Given the description of an element on the screen output the (x, y) to click on. 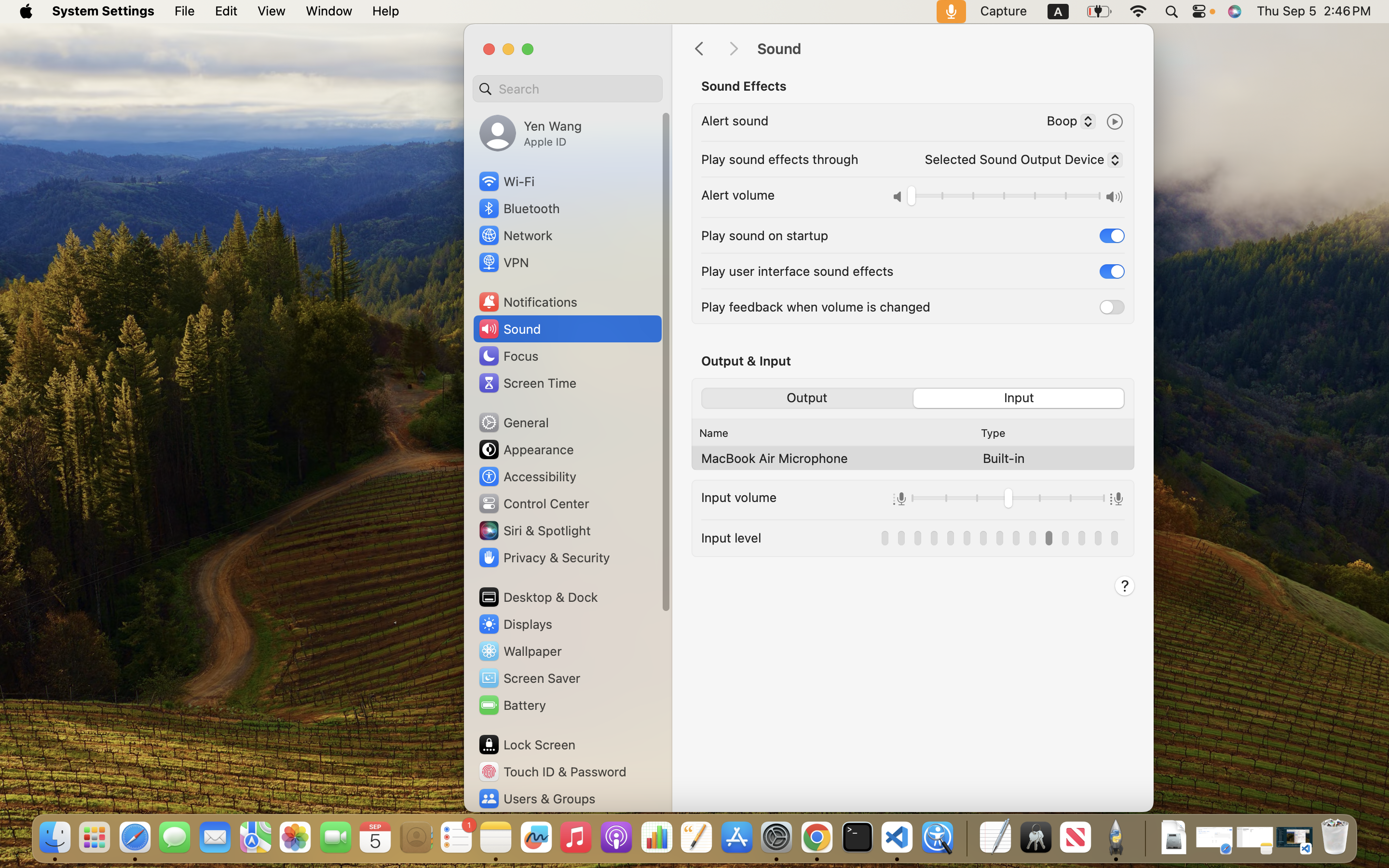
<AXUIElement 0x1320c8380> {pid=2664} Element type: AXTabGroup (912, 397)
Selected Sound Output Device Element type: AXPopUpButton (1019, 161)
Play sound on startup Element type: AXStaticText (764, 235)
Play feedback when volume is changed Element type: AXStaticText (815, 306)
Wi‑Fi Element type: AXStaticText (505, 180)
